Given the description of an element on the screen output the (x, y) to click on. 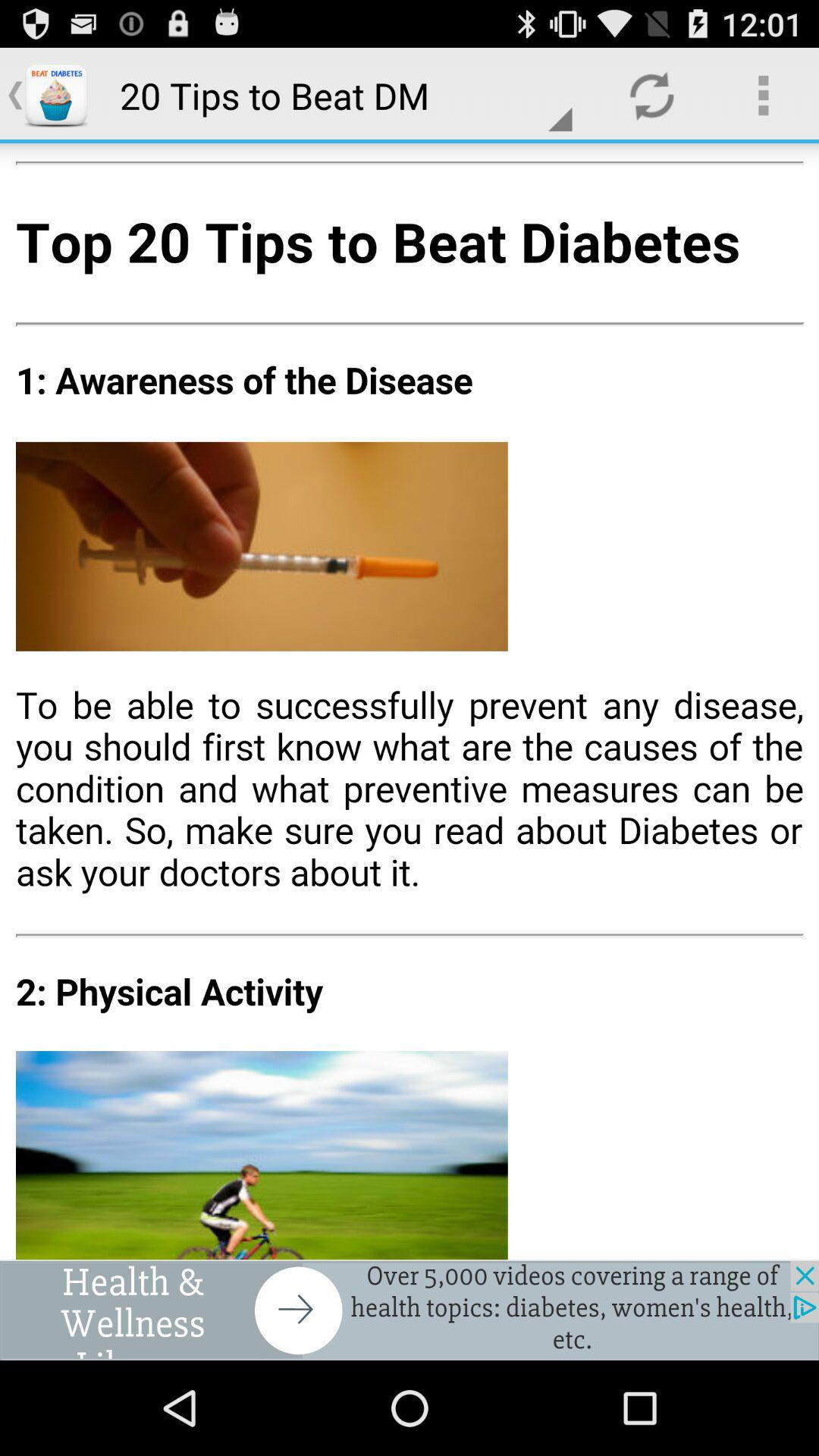
open the advertisement (409, 1310)
